Given the description of an element on the screen output the (x, y) to click on. 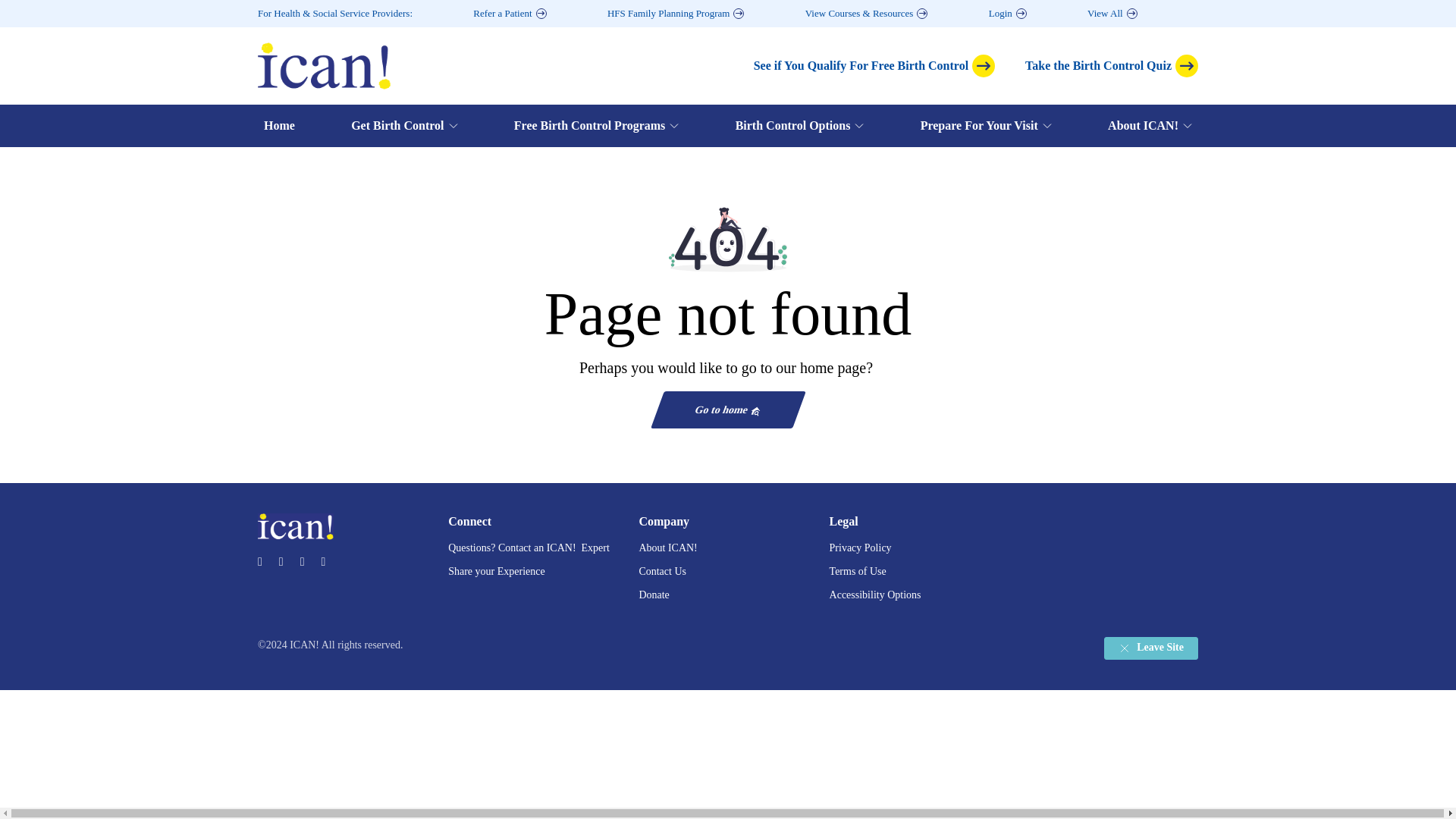
View All (1112, 13)
Take the Birth Control Quiz (1111, 65)
Login (1007, 13)
HFS Family Planning Program (675, 13)
See if You Qualify For Free Birth Control (874, 65)
Refer a Patient (509, 13)
